Given the description of an element on the screen output the (x, y) to click on. 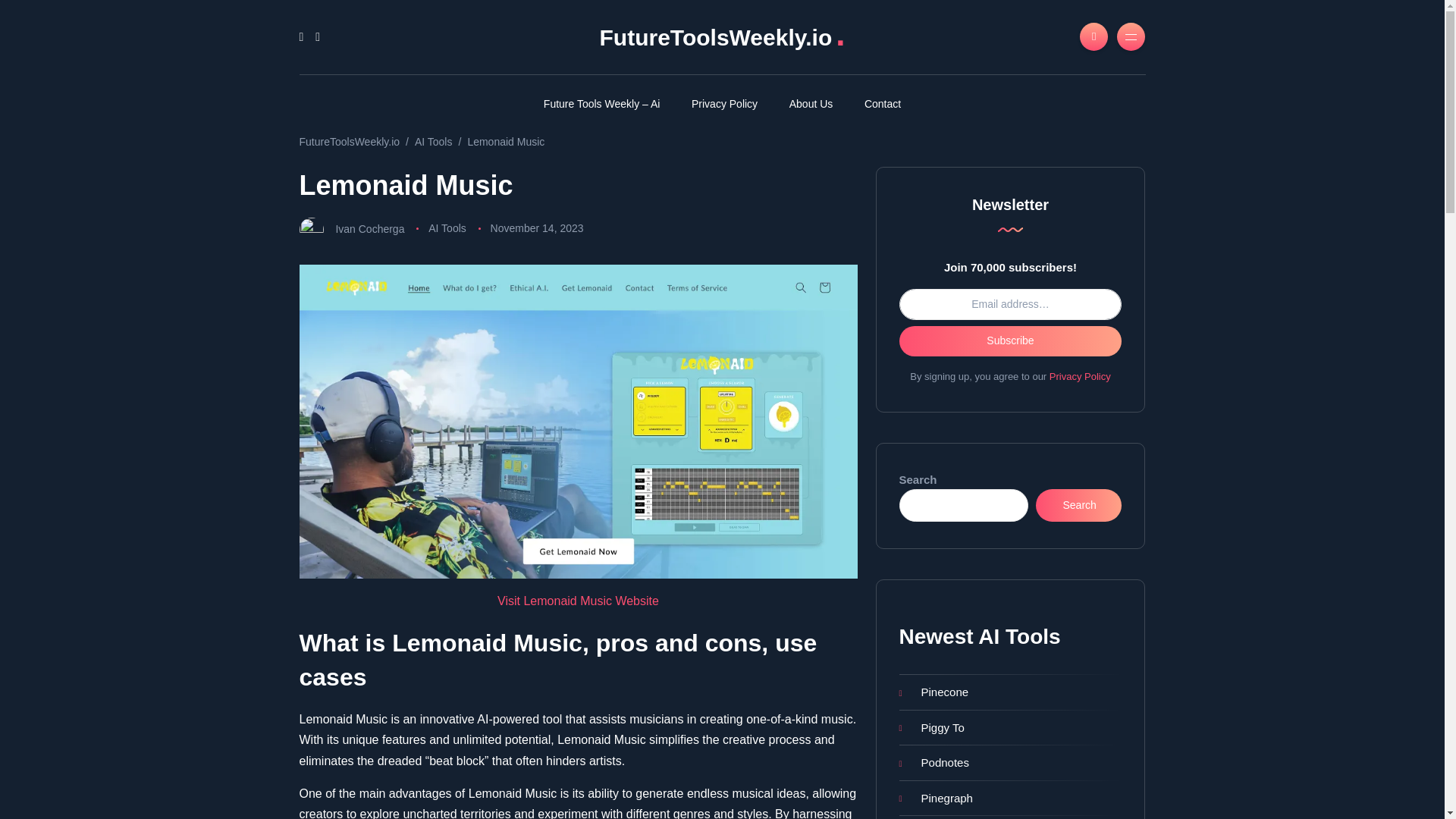
Ivan Cocherga (369, 227)
Visit Lemonaid Music Website (578, 600)
FutureToolsWeekly.io (348, 141)
Posts by Ivan Cocherga (369, 227)
FutureToolsWeekly.io. (721, 37)
AI Tools (446, 227)
Privacy Policy (724, 103)
About Us (810, 103)
Go to FutureToolsWeekly.io. (348, 141)
Go to the AI Tools Category archives. (433, 141)
Contact (882, 103)
AI Tools (433, 141)
